Given the description of an element on the screen output the (x, y) to click on. 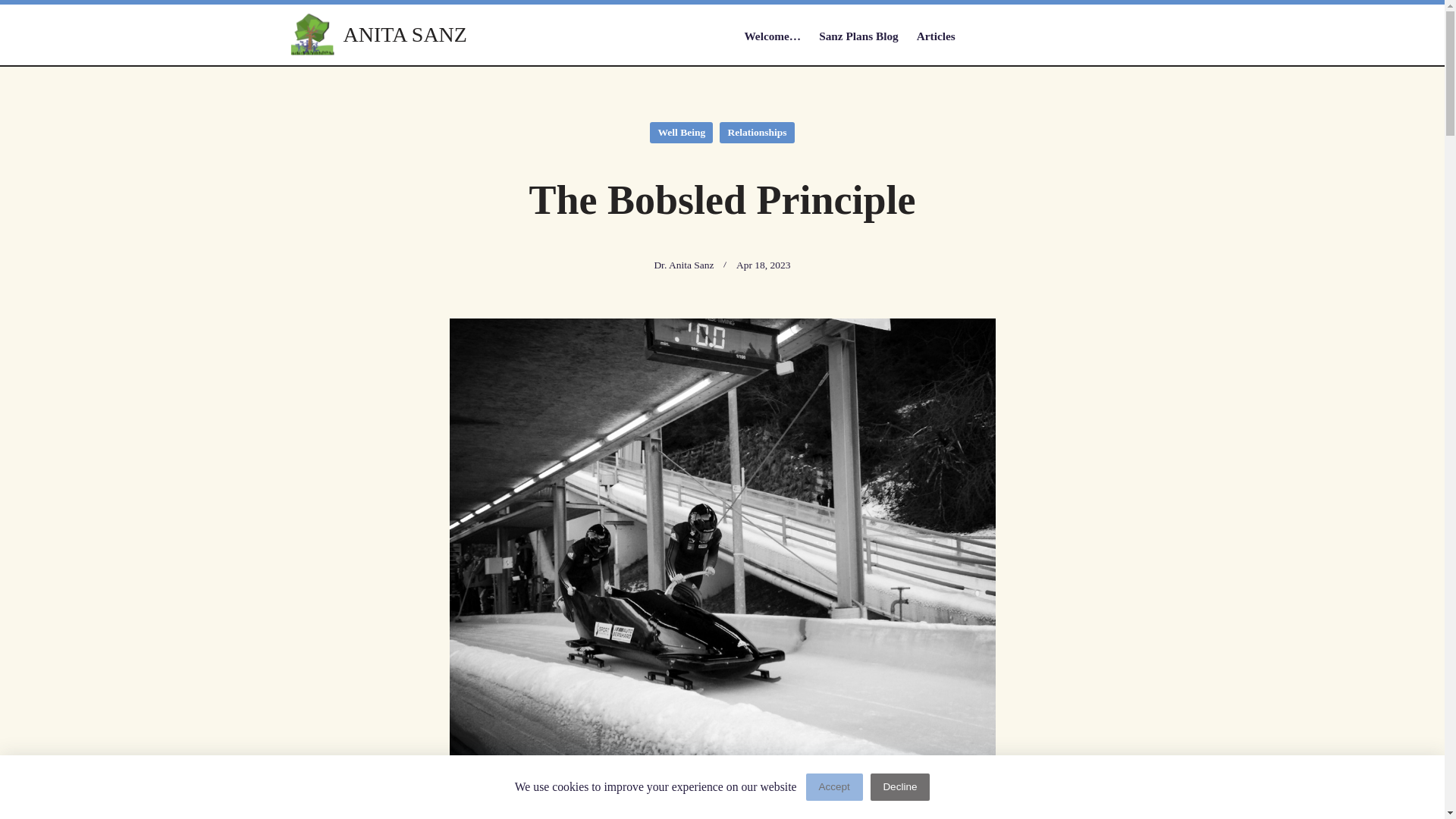
Articles (935, 36)
Sanz Plans Blog (858, 36)
ANITA SANZ (403, 33)
